Given the description of an element on the screen output the (x, y) to click on. 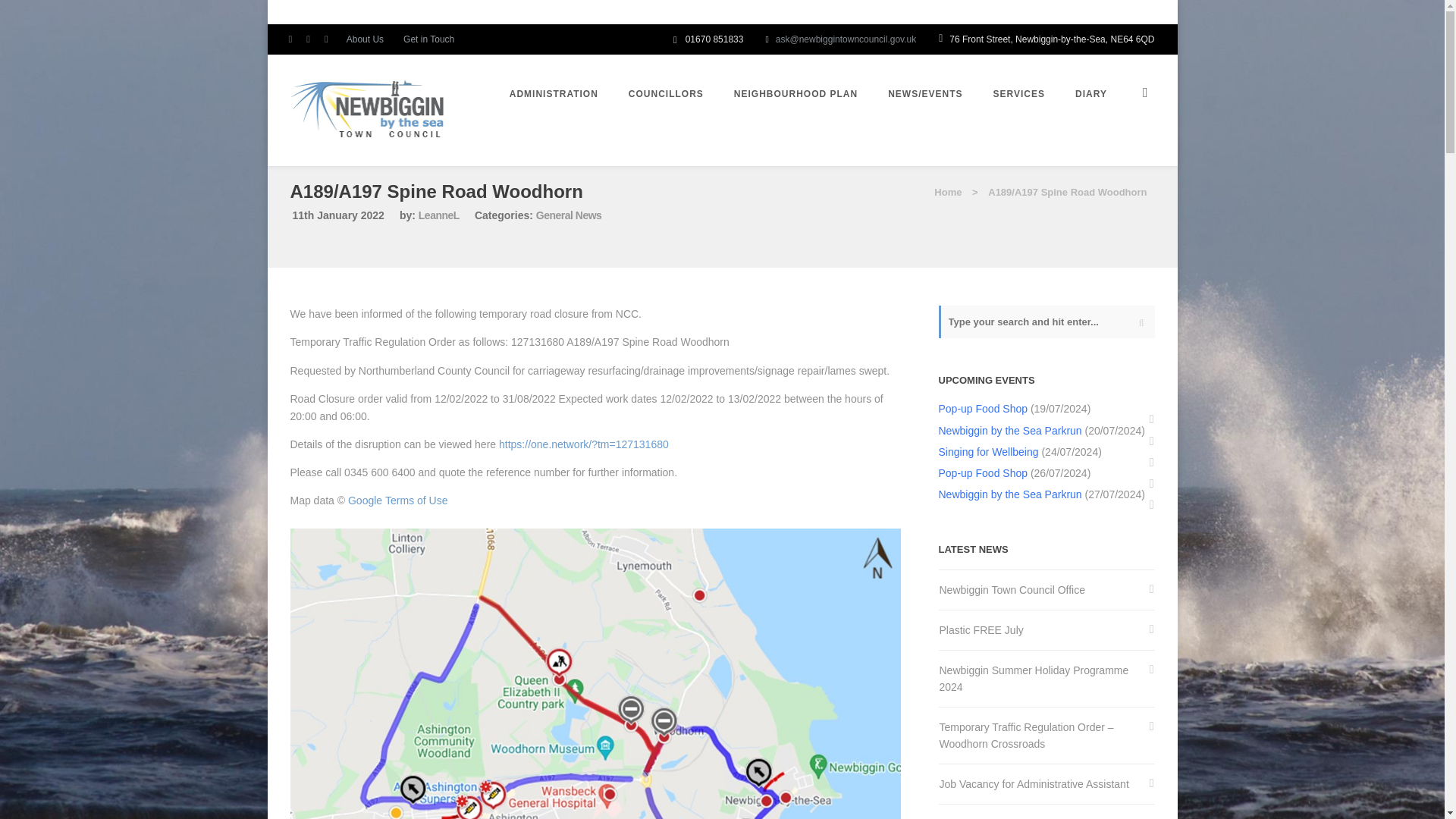
About Us (365, 39)
Facebook (293, 38)
LinkedIn (329, 38)
Get in Touch (424, 39)
Twitter (311, 38)
